Given the description of an element on the screen output the (x, y) to click on. 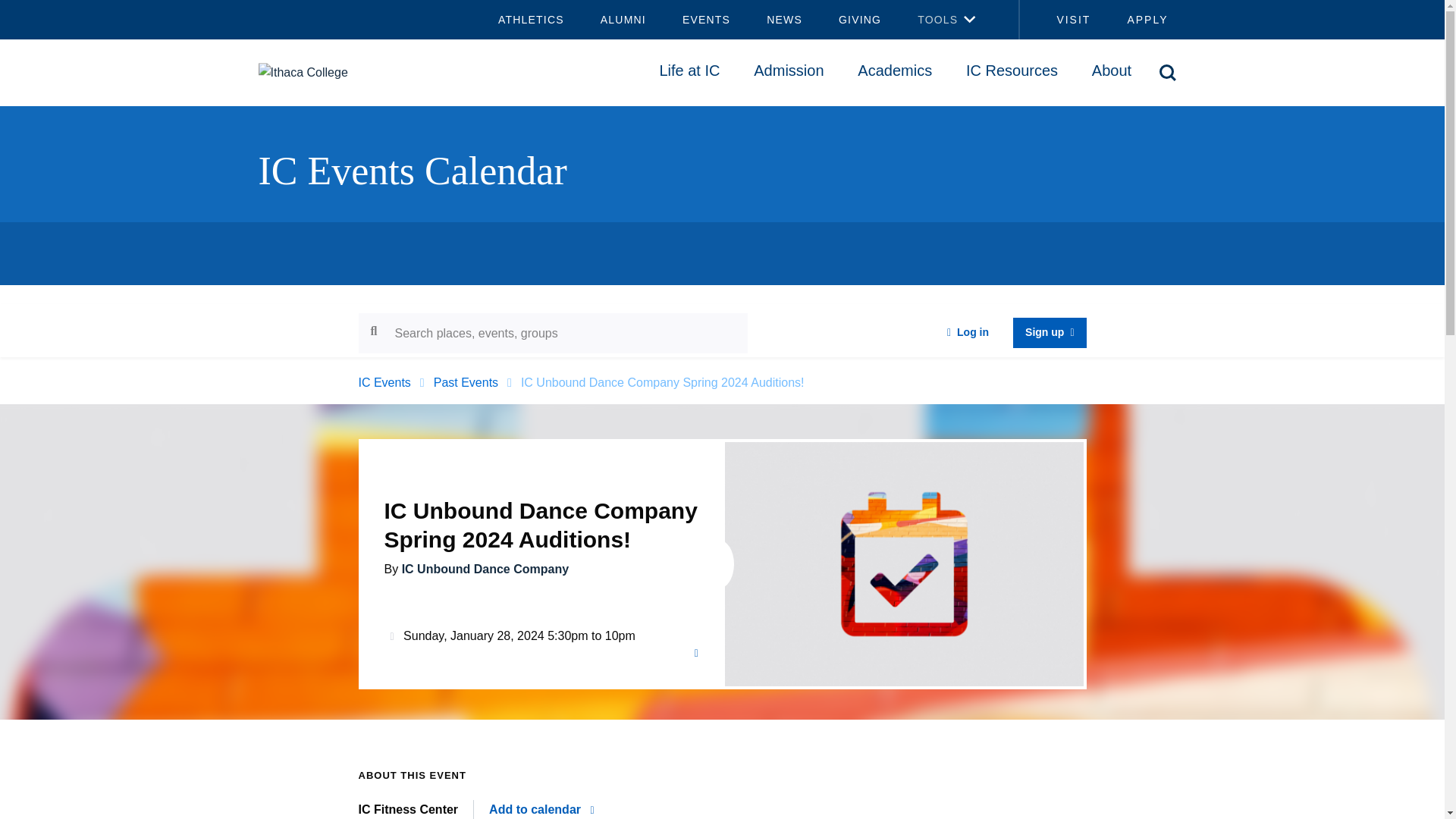
ALUMNI (622, 19)
APPLY (1147, 19)
IC Unbound Dance Company (485, 568)
ATHLETICS (531, 19)
EVENTS (705, 19)
Sign up (1049, 332)
GIVING (860, 19)
TOOLS (928, 19)
VISIT (1064, 19)
